Given the description of an element on the screen output the (x, y) to click on. 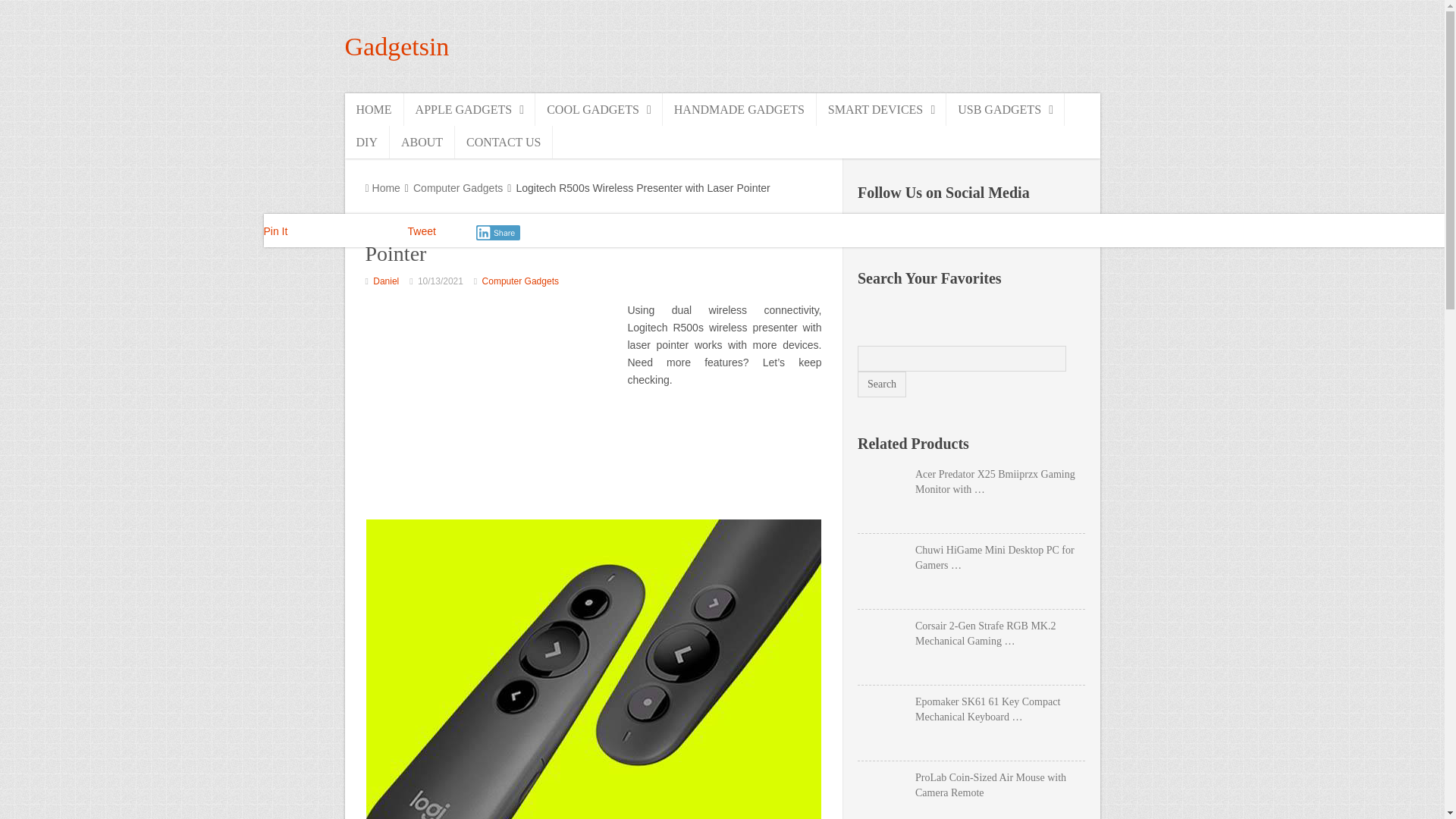
Home (382, 187)
USB GADGETS (1005, 109)
Computer Gadgets (520, 281)
Advertisement (492, 408)
Pin It (275, 231)
Email (1001, 227)
Search (881, 384)
Instagram (936, 227)
Facebook (870, 227)
Tweet (421, 231)
Gadgetsin (395, 46)
Share (498, 232)
CONTACT US (503, 142)
Daniel (385, 281)
Twitter (968, 227)
